Given the description of an element on the screen output the (x, y) to click on. 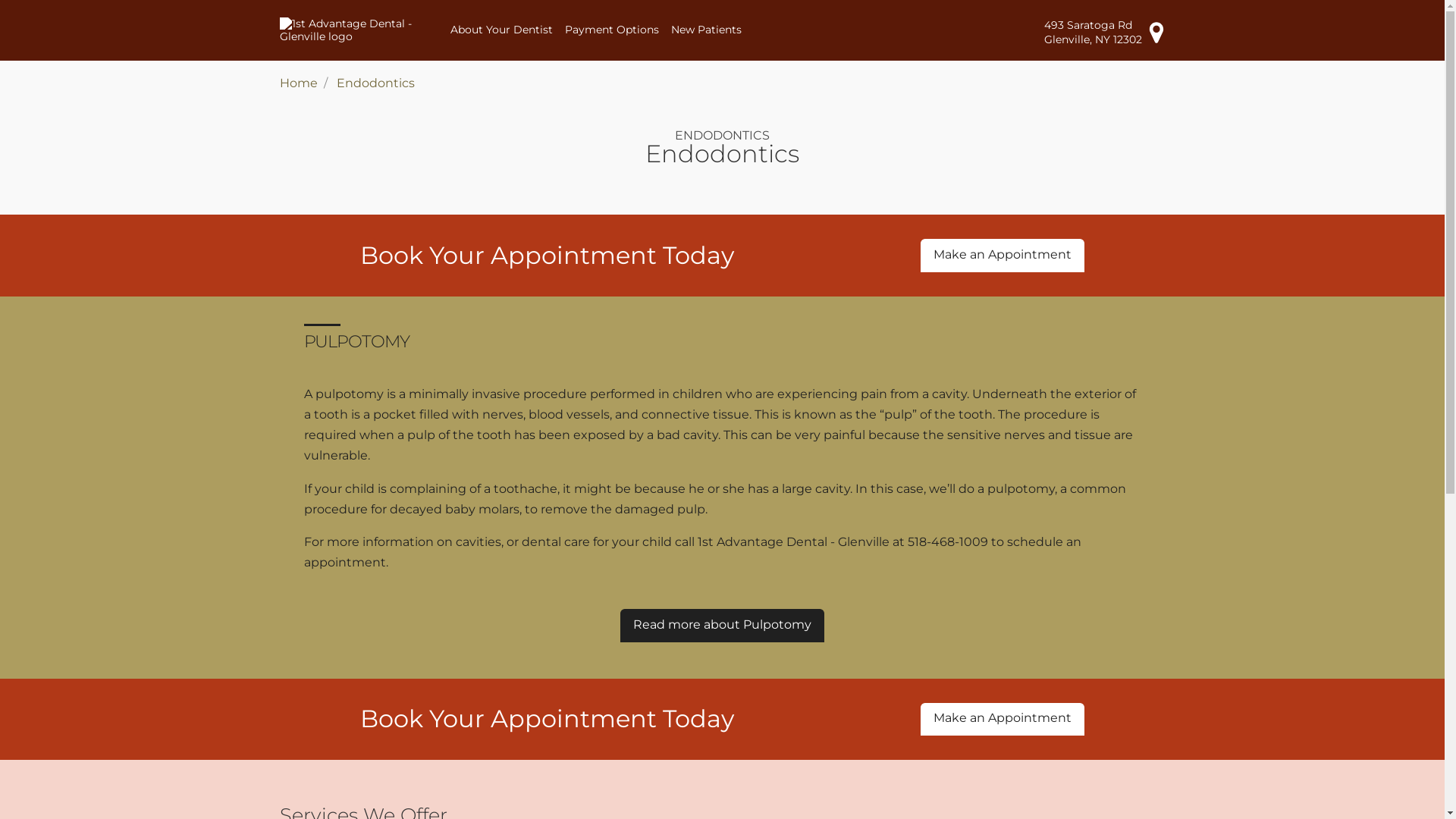
Payment Options Element type: text (611, 29)
Endodontics Element type: text (375, 82)
Make an Appointment Element type: text (1002, 254)
Home Element type: text (297, 82)
493 Saratoga Rd
Glenville, NY 12302 Element type: text (1103, 31)
About Your Dentist Element type: text (501, 29)
Read more about Pulpotomy Element type: text (722, 624)
Make an Appointment Element type: text (1002, 718)
New Patients Element type: text (706, 29)
